Given the description of an element on the screen output the (x, y) to click on. 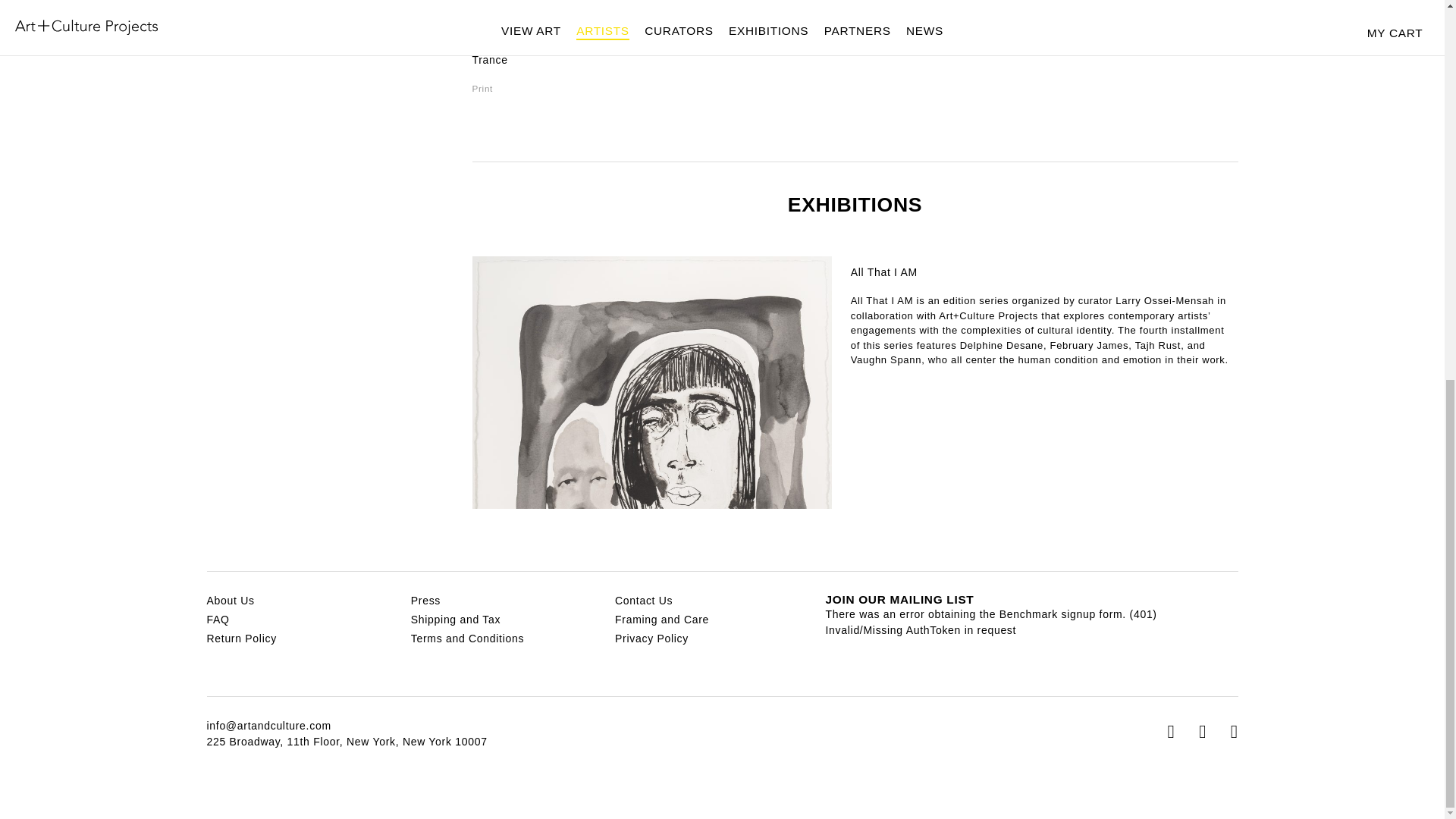
Trance (488, 60)
Return Policy (241, 638)
Framing and Care (661, 619)
Contact Us (643, 600)
Press (425, 600)
Print (482, 88)
Instagram (1176, 732)
Facebook (1207, 732)
All That I AM (883, 272)
Terms and Conditions (467, 638)
